Given the description of an element on the screen output the (x, y) to click on. 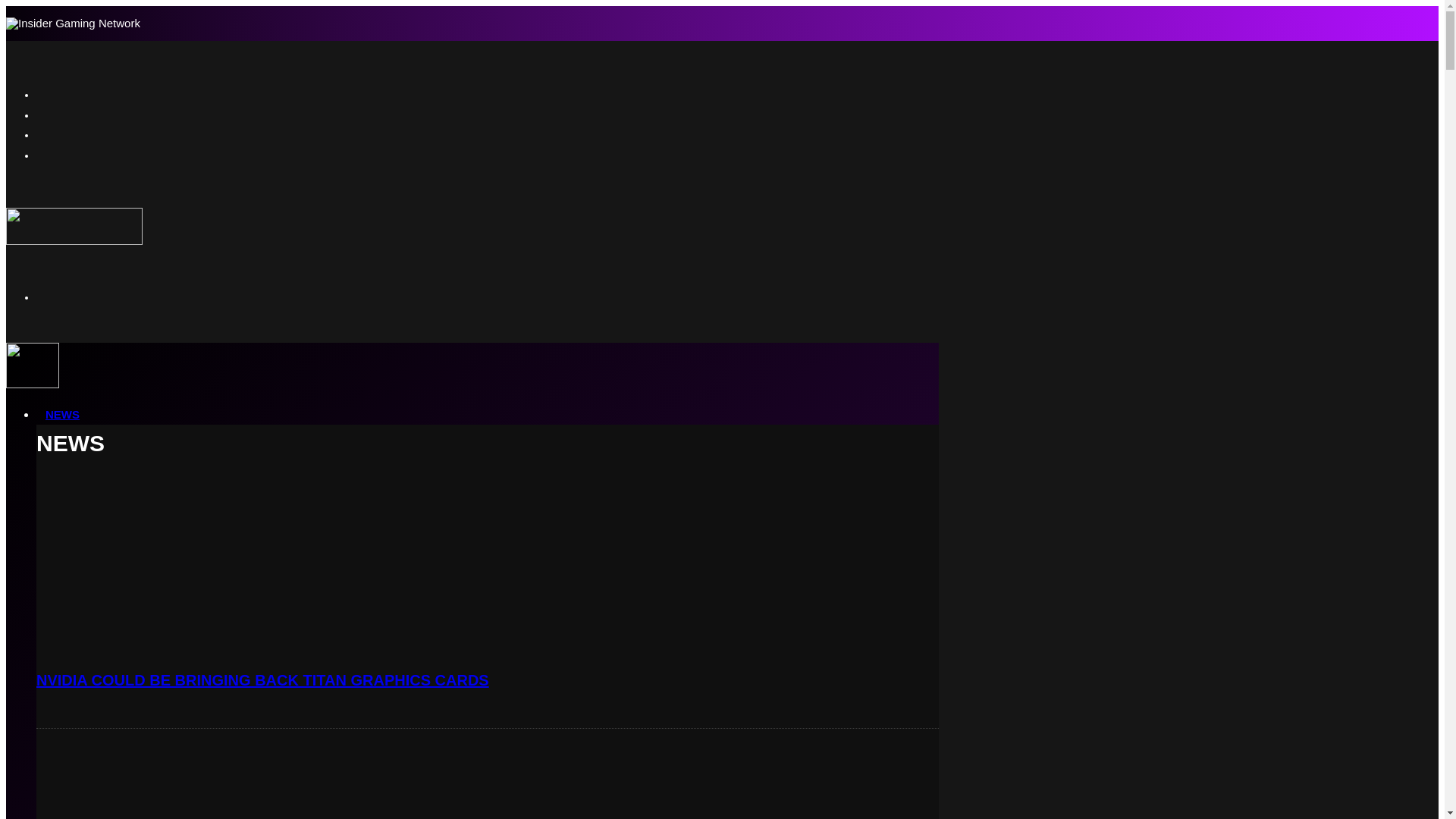
NEWS (62, 413)
NVIDIA COULD BE BRINGING BACK TITAN GRAPHICS CARDS (262, 679)
